Given the description of an element on the screen output the (x, y) to click on. 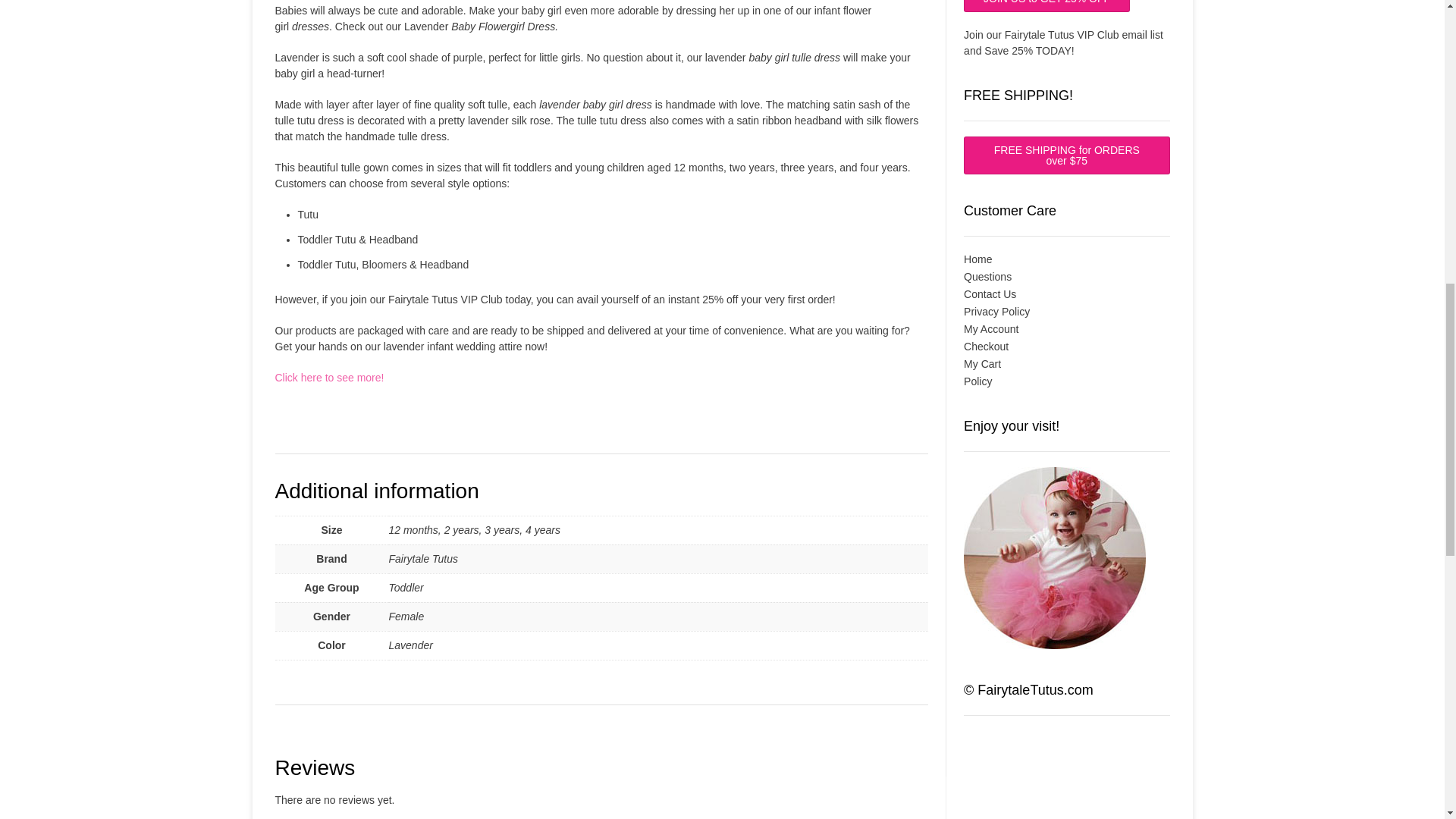
Click here to see more! (329, 377)
Enjoy your visit! (1054, 557)
